Given the description of an element on the screen output the (x, y) to click on. 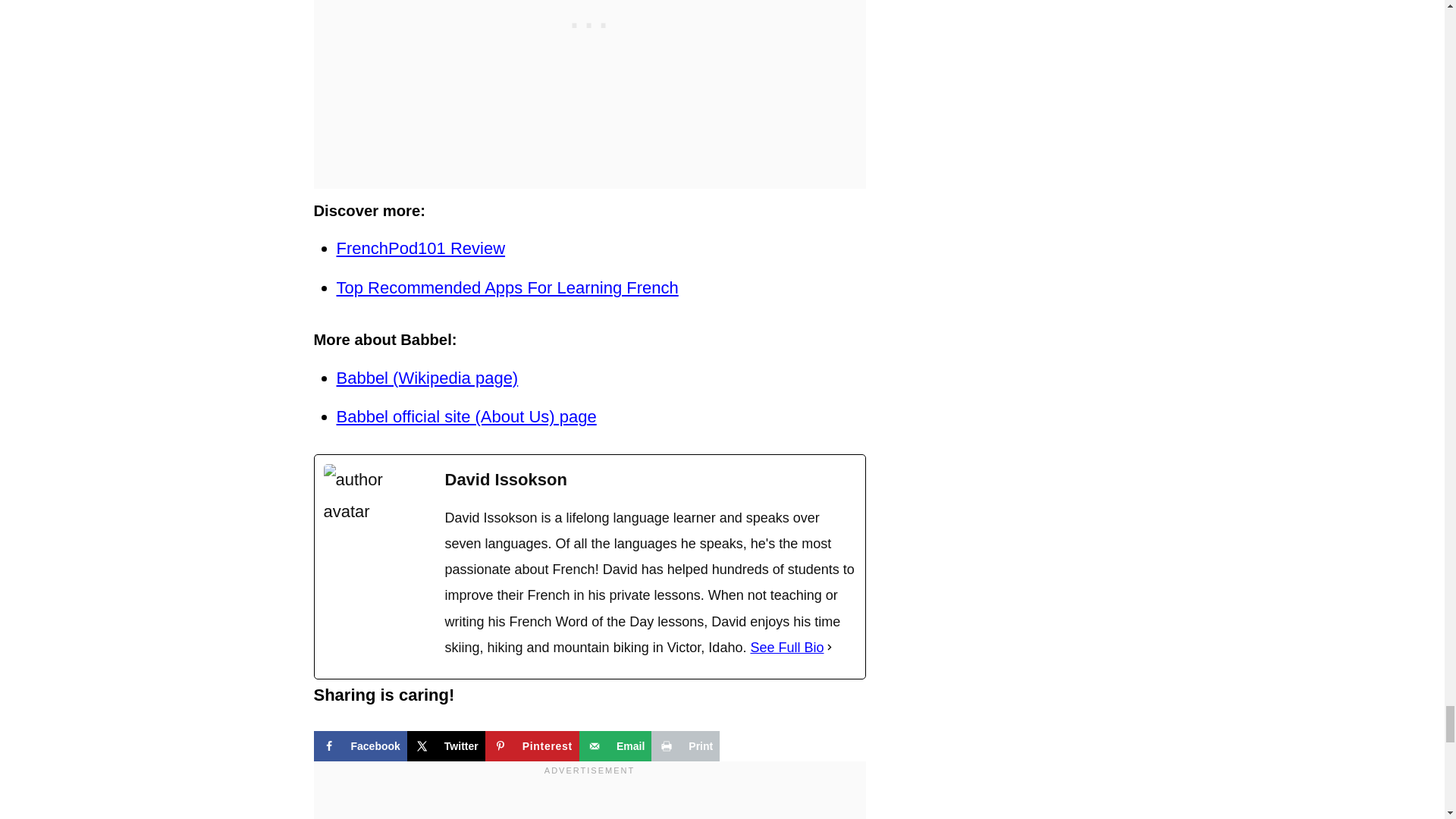
Send over email (614, 746)
Print (684, 746)
Share on Facebook (360, 746)
Email (614, 746)
Share on X (445, 746)
Pinterest (531, 746)
See Full Bio (786, 647)
Save to Pinterest (531, 746)
FrenchPod101 Review (420, 248)
Twitter (445, 746)
Top Recommended Apps For Learning French (507, 287)
Facebook (360, 746)
